Given the description of an element on the screen output the (x, y) to click on. 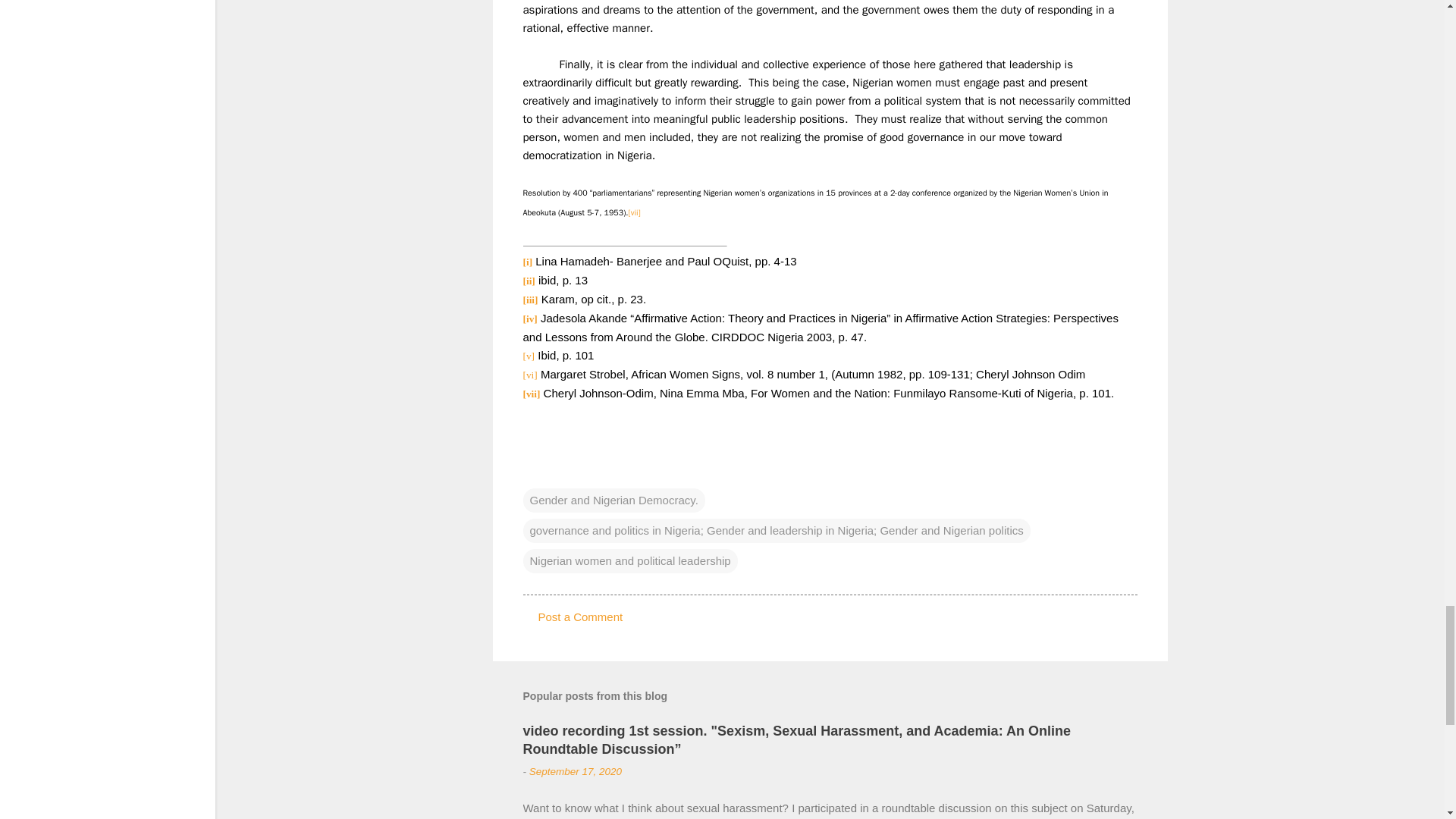
September 17, 2020 (575, 771)
Gender and Nigerian Democracy. (613, 500)
Nigerian women and political leadership (630, 560)
Post a Comment (580, 616)
